Given the description of an element on the screen output the (x, y) to click on. 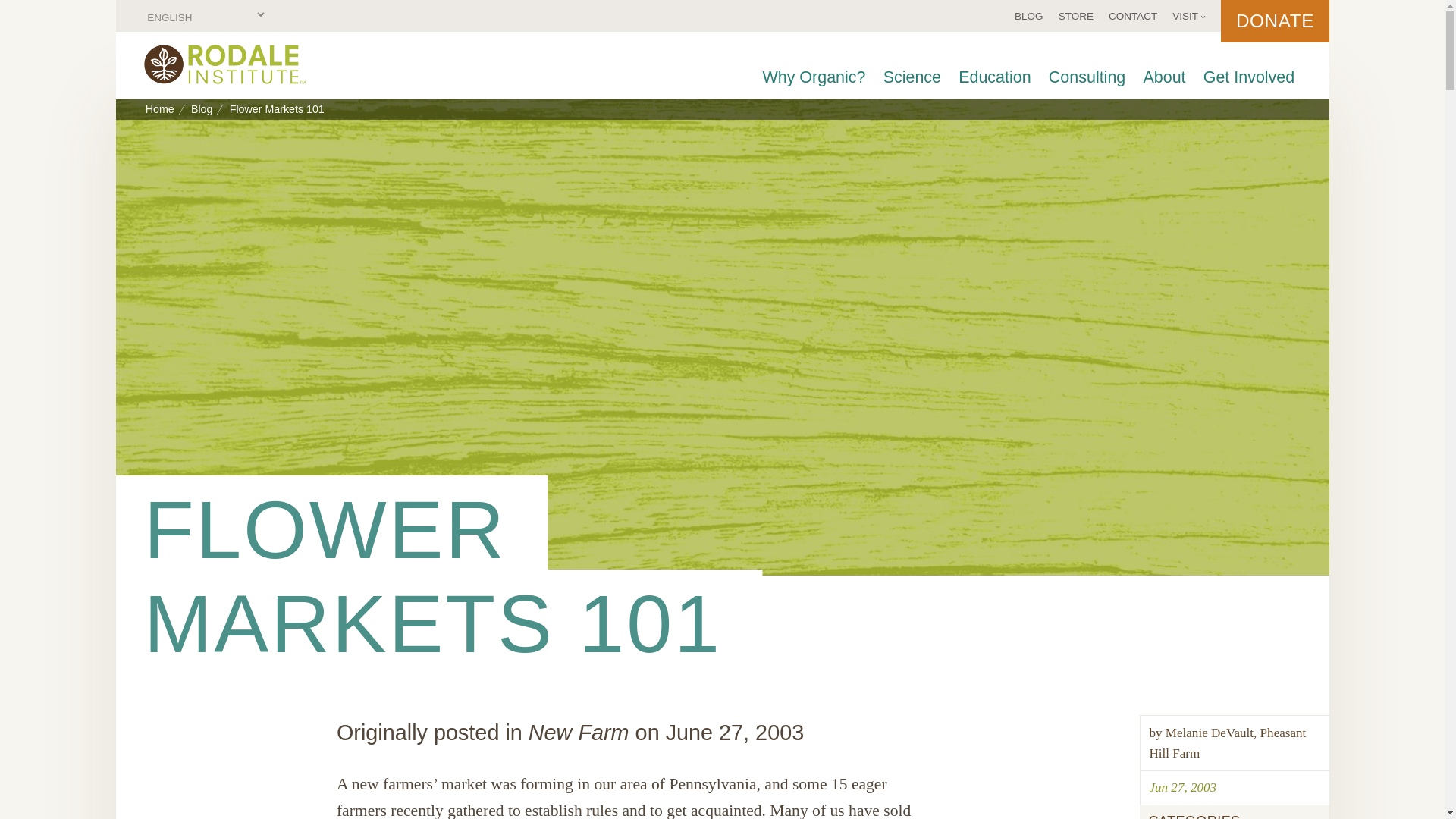
Why Organic? (812, 77)
Science (911, 77)
